Given the description of an element on the screen output the (x, y) to click on. 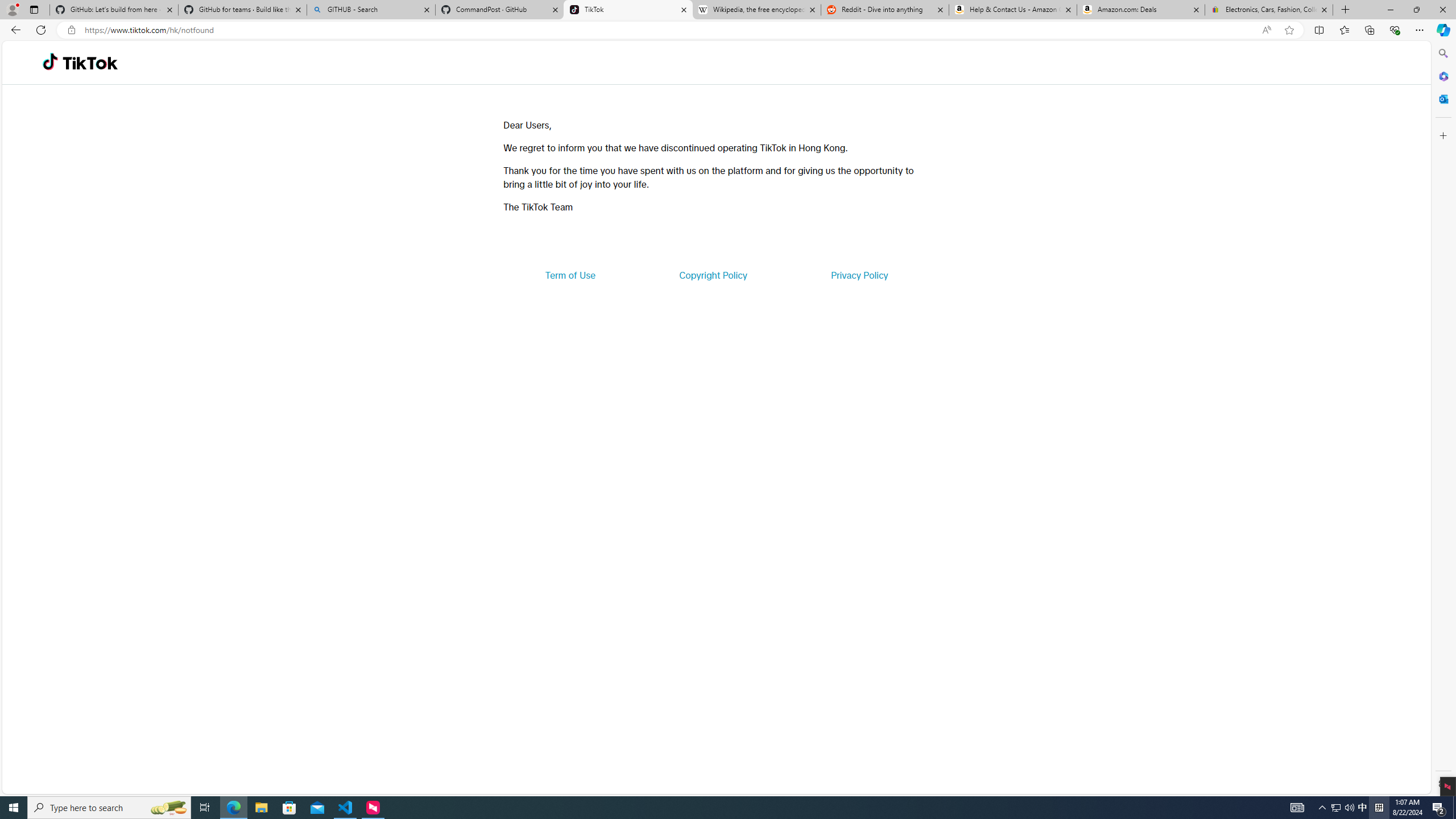
Term of Use (569, 274)
Copyright Policy (712, 274)
